Given the description of an element on the screen output the (x, y) to click on. 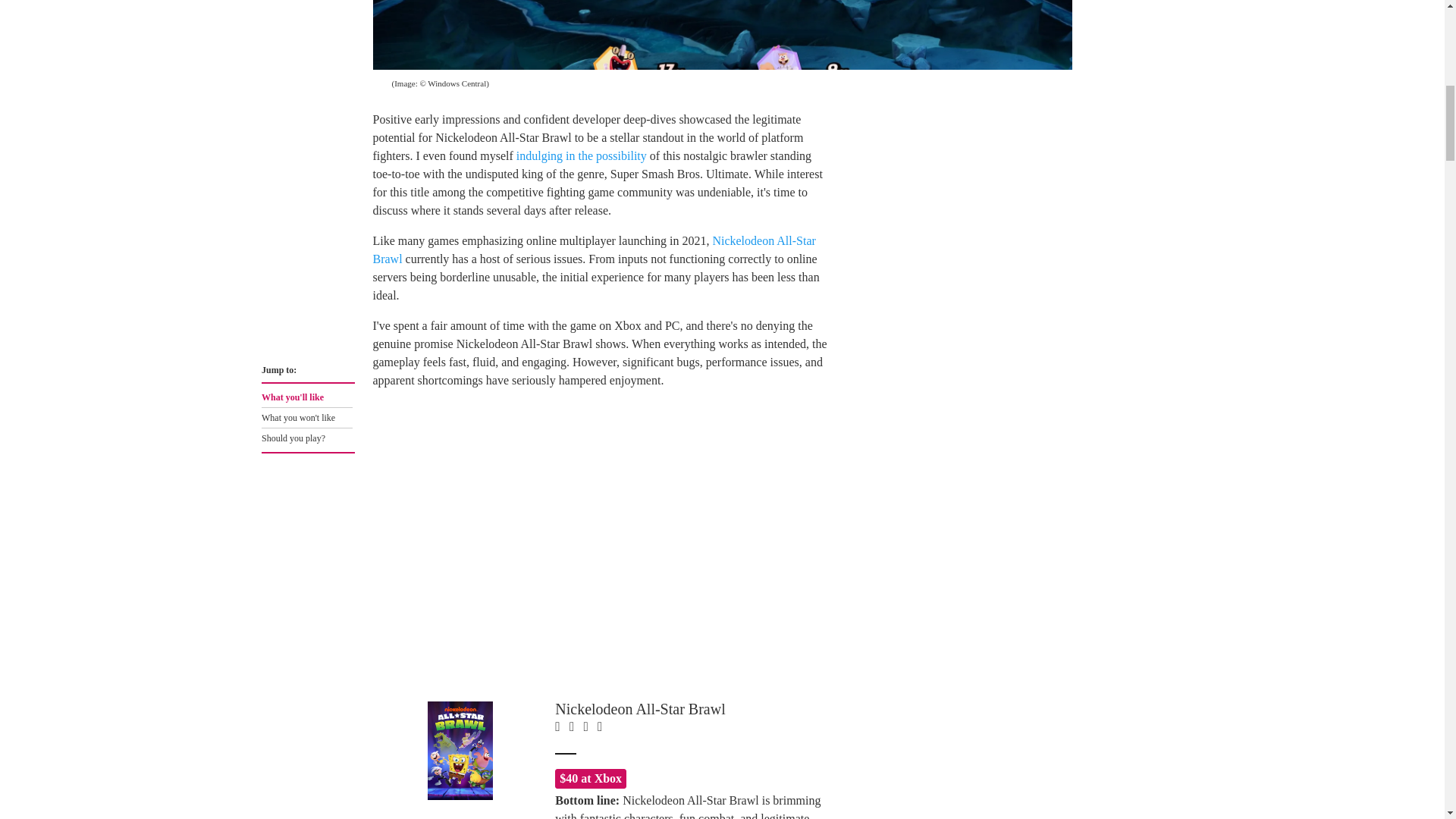
indulging in the possibility (581, 155)
Nickelodeon All-Star Brawl (593, 249)
